Given the description of an element on the screen output the (x, y) to click on. 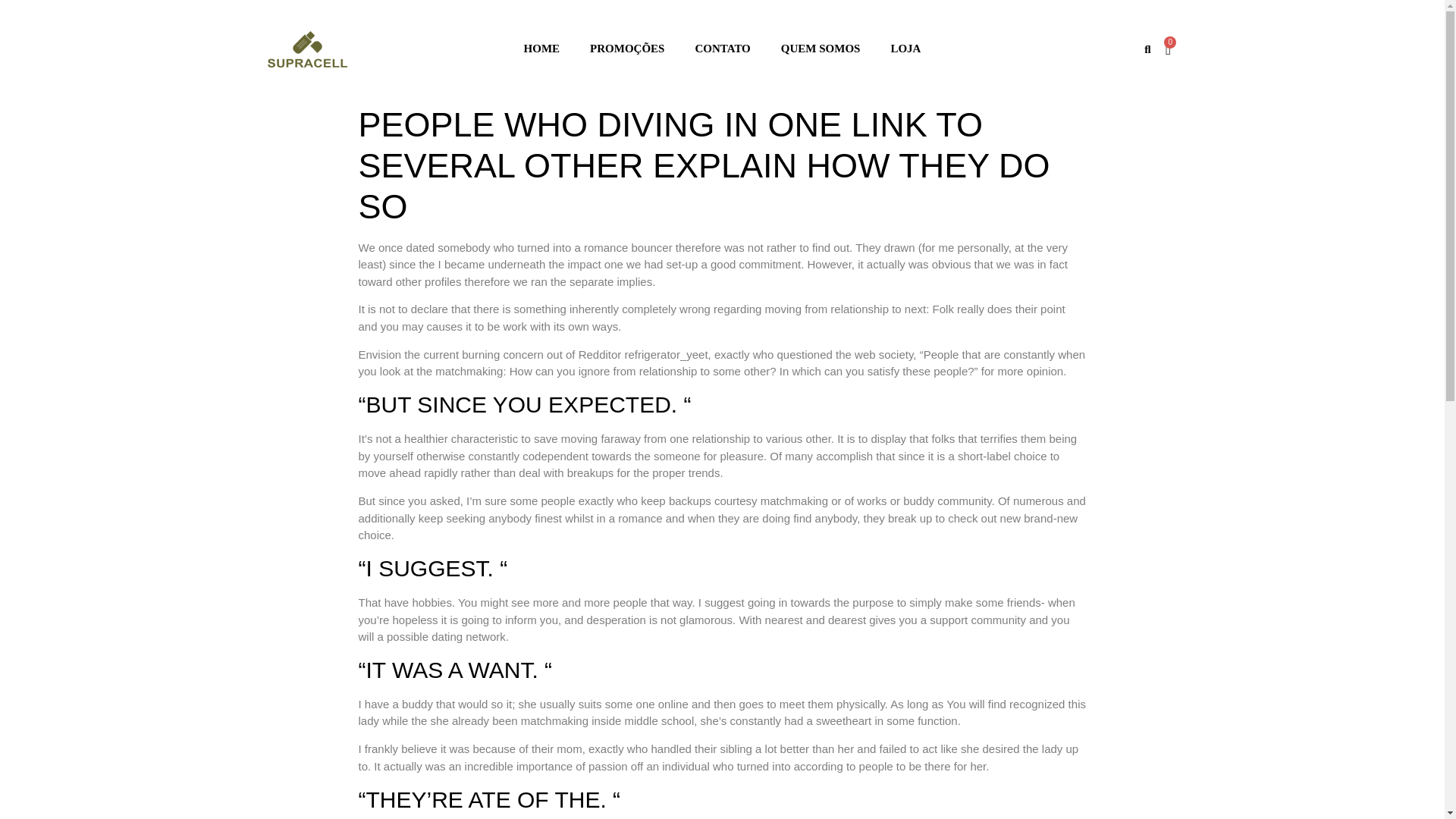
CONTATO (722, 48)
QUEM SOMOS (820, 48)
HOME (541, 48)
LOJA (905, 48)
